Given the description of an element on the screen output the (x, y) to click on. 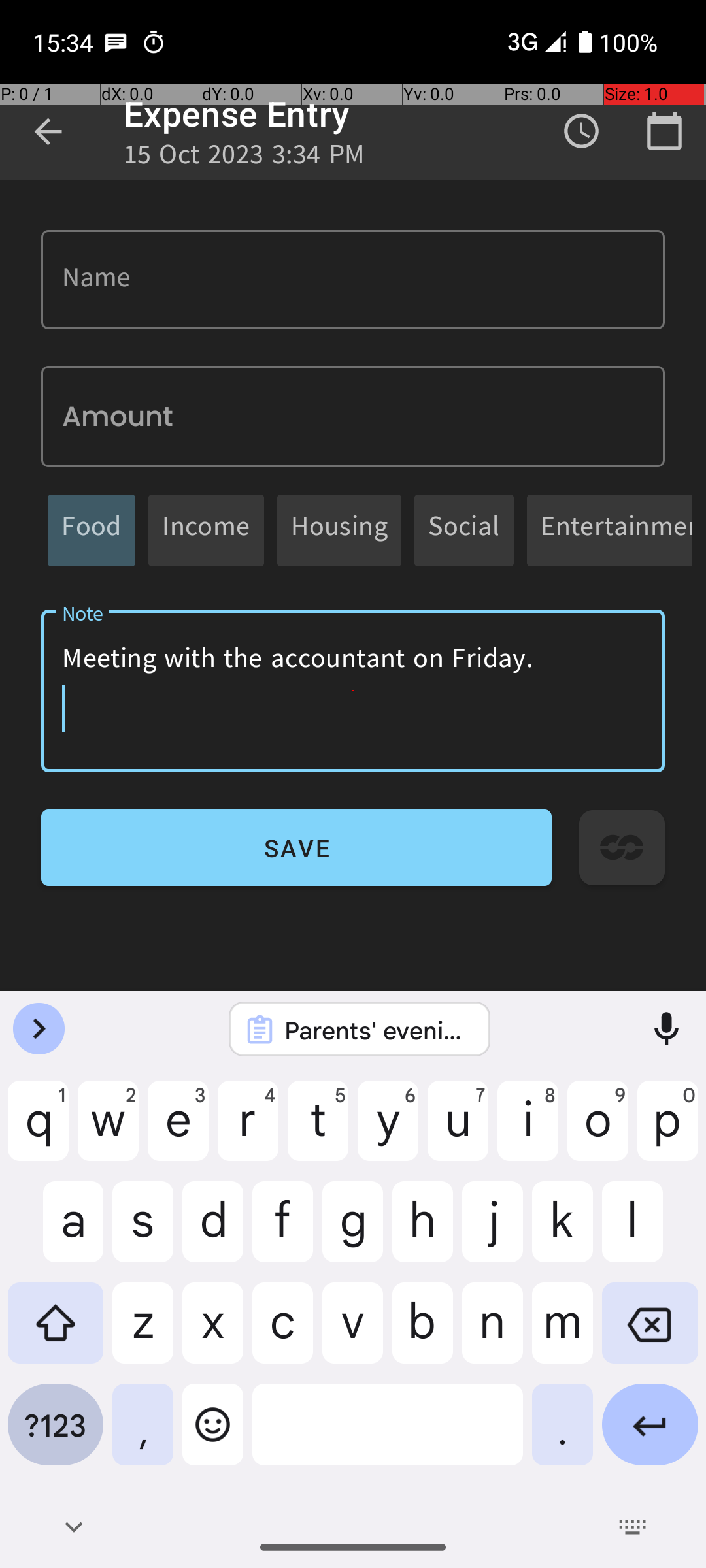
Meeting with the accountant on Friday.
 Element type: android.widget.EditText (352, 690)
Parents' evening at school this Wednesday. Element type: android.widget.TextView (376, 1029)
